Given the description of an element on the screen output the (x, y) to click on. 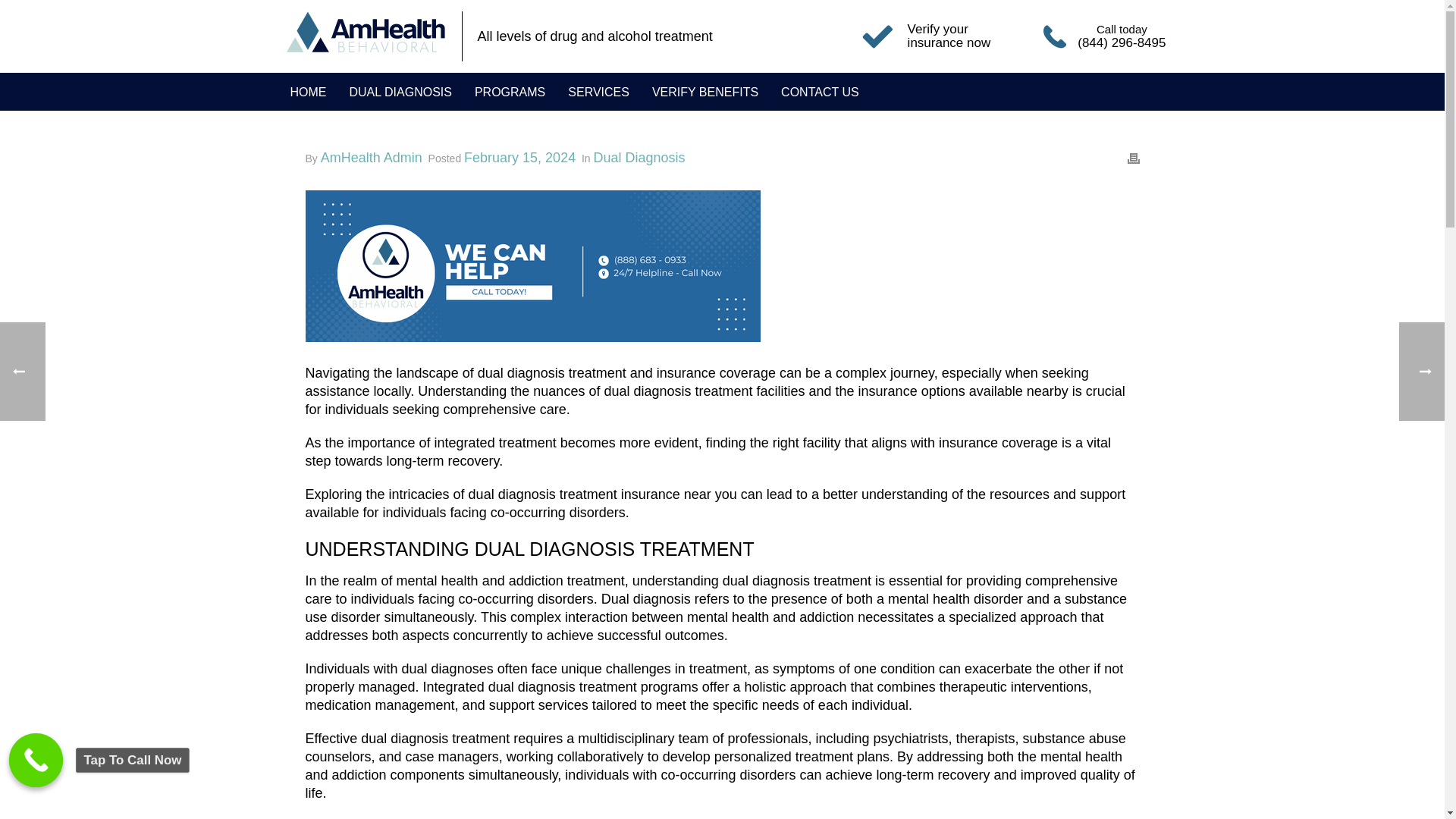
Posts by AmHealth Admin (371, 157)
SERVICES (597, 92)
February 15, 2024 (519, 157)
DUAL DIAGNOSIS (400, 92)
AmHealth Admin (371, 157)
PROGRAMS (509, 92)
CONTACT US (819, 92)
HOME (307, 92)
Dual Diagnosis (639, 157)
VERIFY BENEFITS (705, 92)
